Given the description of an element on the screen output the (x, y) to click on. 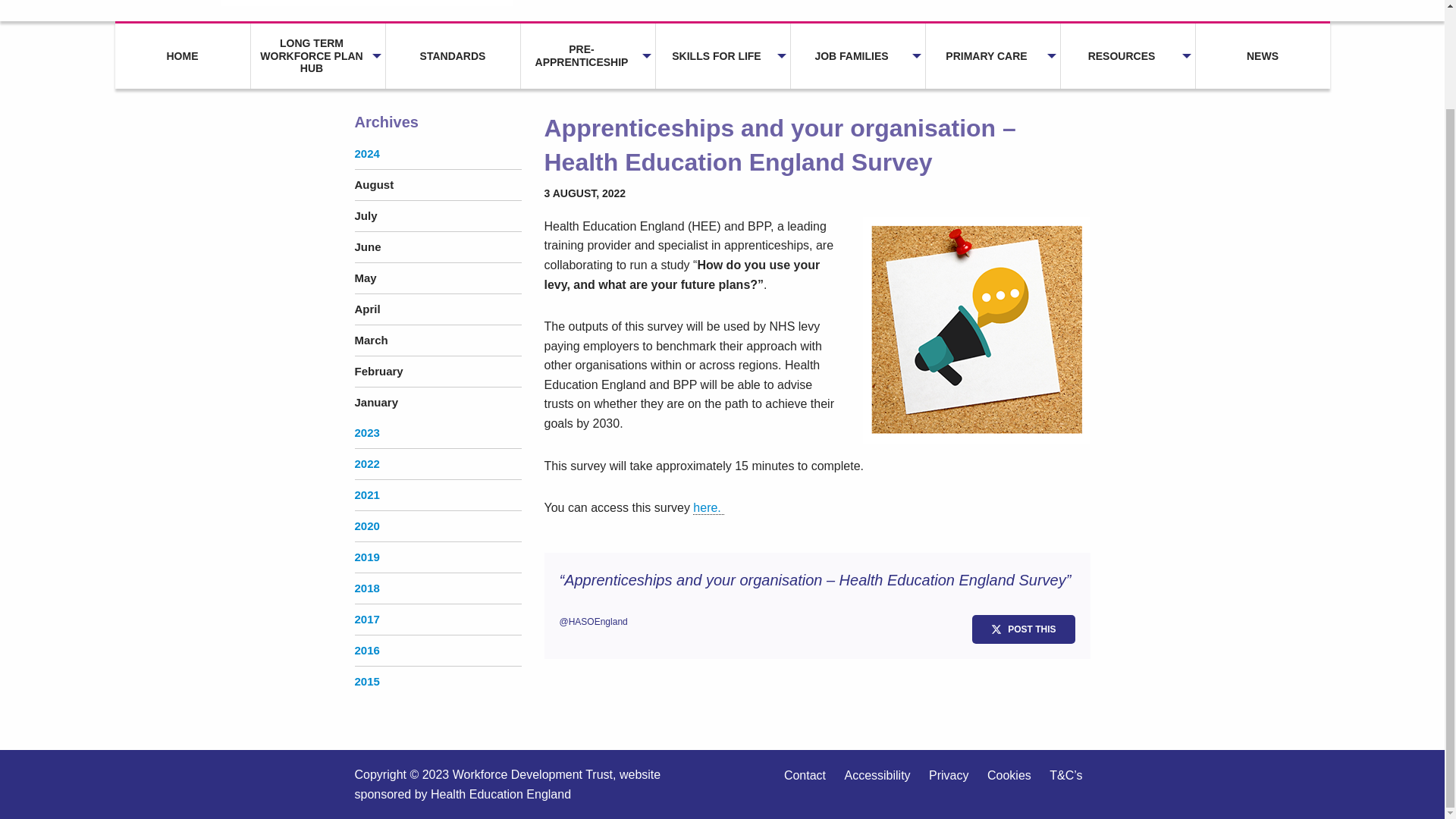
JOB FAMILIES (857, 56)
PRE-APPRENTICESHIP (586, 55)
LONG TERM WORKFORCE PLAN HUB (317, 55)
HOME (182, 56)
STANDARDS (452, 56)
SKILLS FOR LIFE (722, 56)
